Given the description of an element on the screen output the (x, y) to click on. 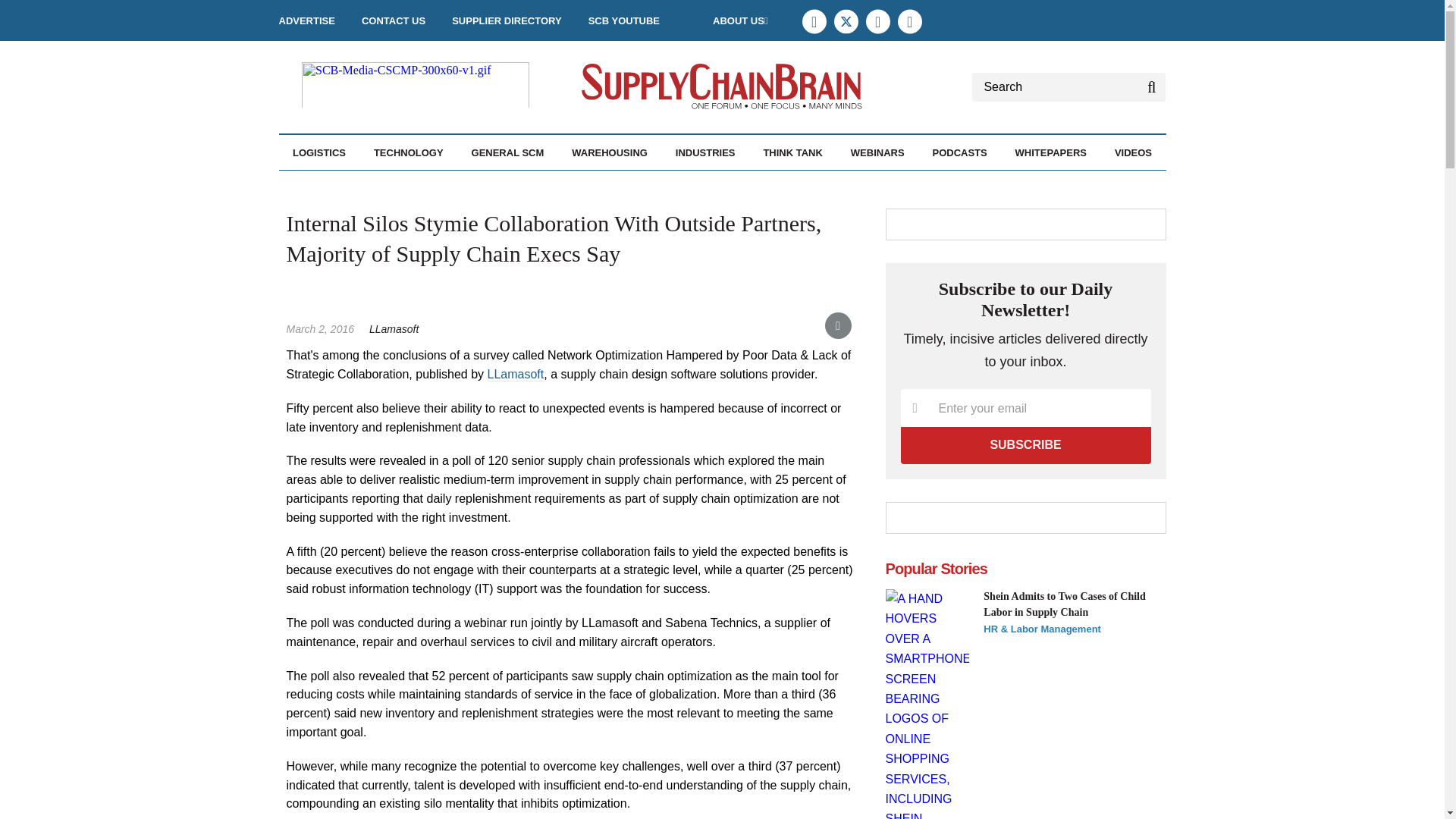
Global Gateways (395, 184)
Service Parts Management (413, 193)
Reverse Logistics (411, 184)
Last Mile Delivery (401, 184)
Artificial Intelligence (456, 184)
All Technology (449, 184)
Logistics Outsourcing (404, 184)
SCB YOUTUBE (623, 20)
Subscribe (1026, 444)
SUPPLIER DIRECTORY (505, 20)
